Given the description of an element on the screen output the (x, y) to click on. 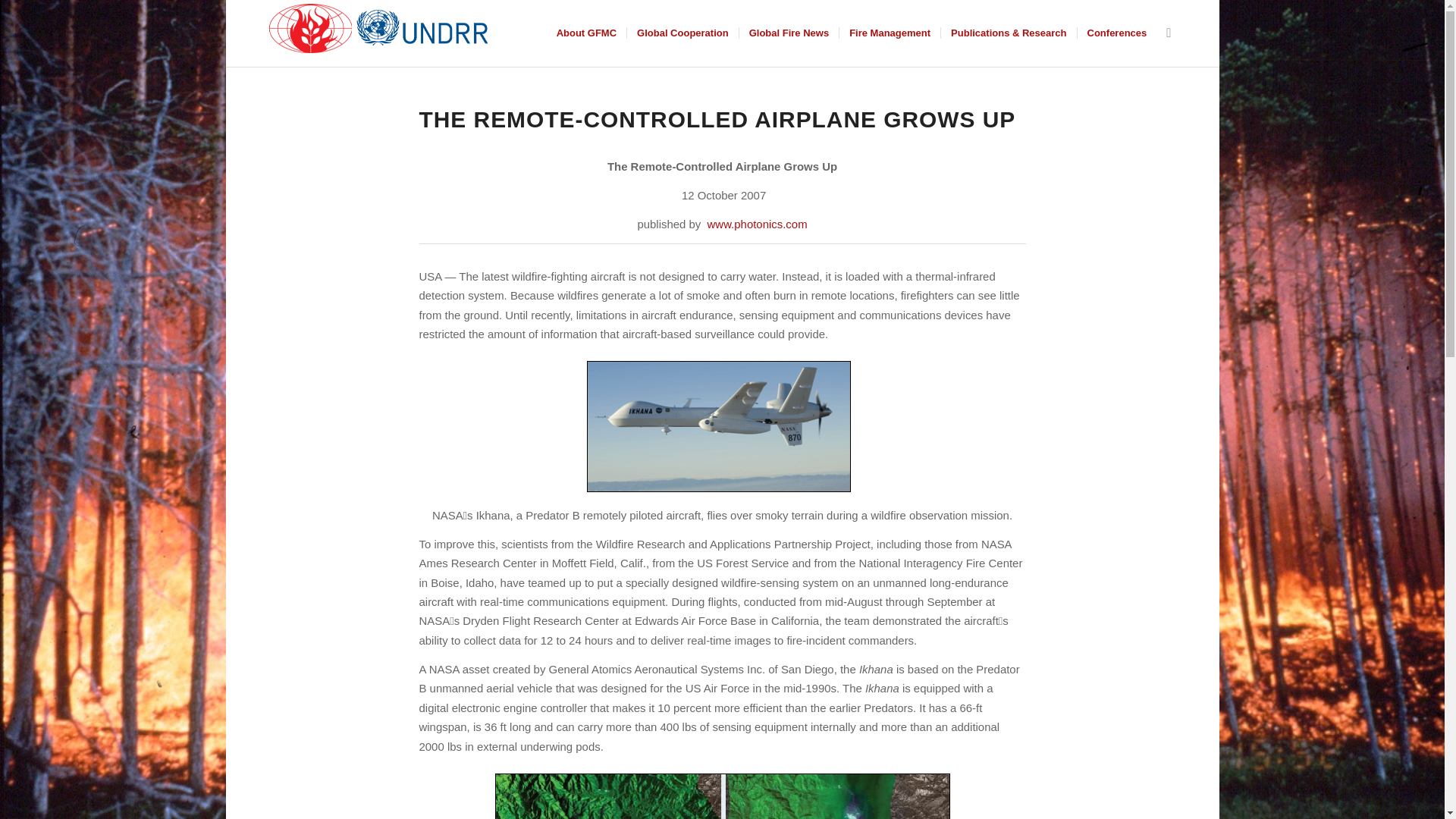
About GFMC (586, 33)
Global Cooperation (682, 33)
